Given the description of an element on the screen output the (x, y) to click on. 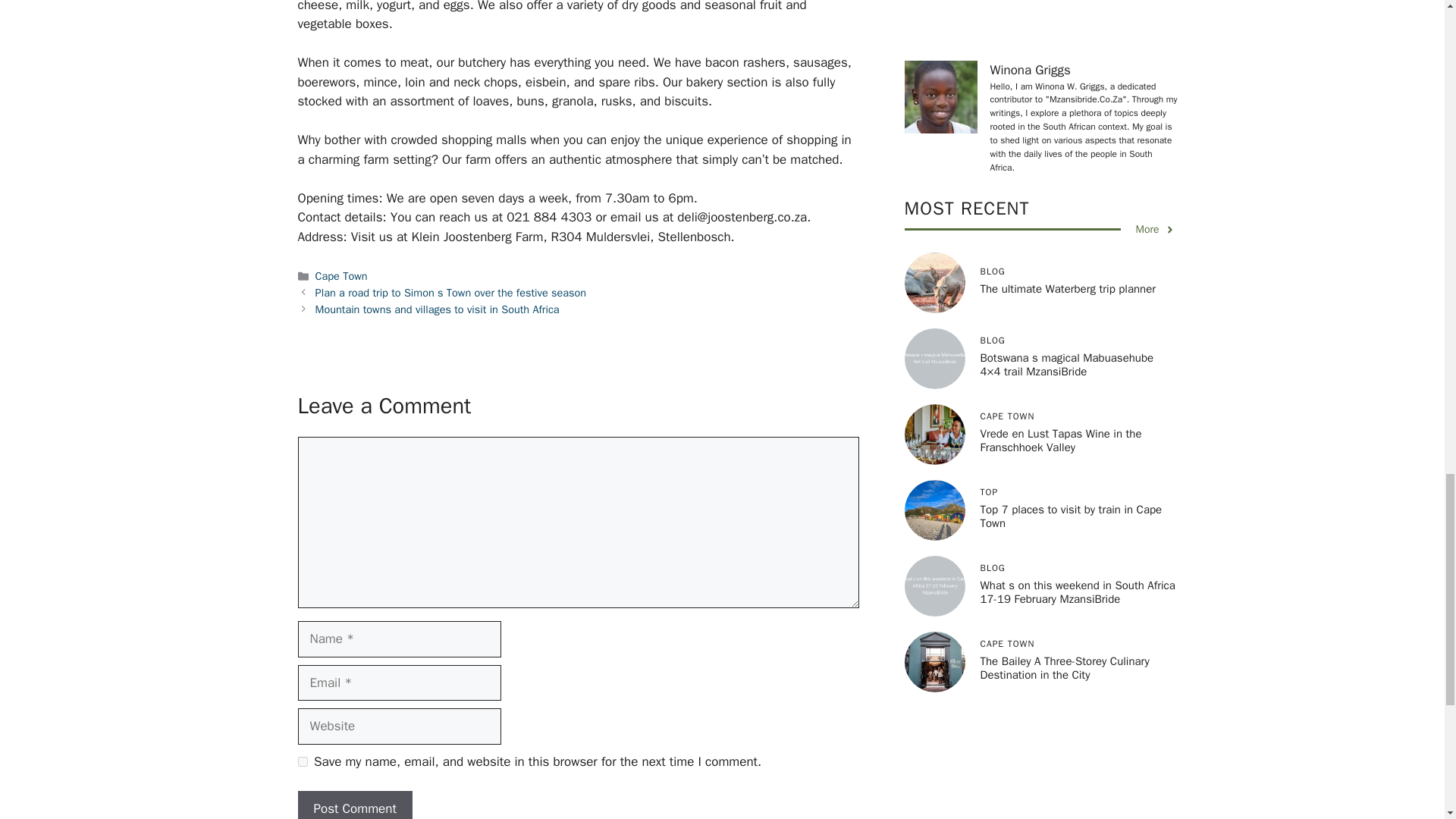
yes (302, 761)
Plan a road trip to Simon s Town over the festive season (450, 292)
Post Comment (354, 805)
Cape Town (341, 275)
Mountain towns and villages to visit in South Africa (437, 309)
Post Comment (354, 805)
